Given the description of an element on the screen output the (x, y) to click on. 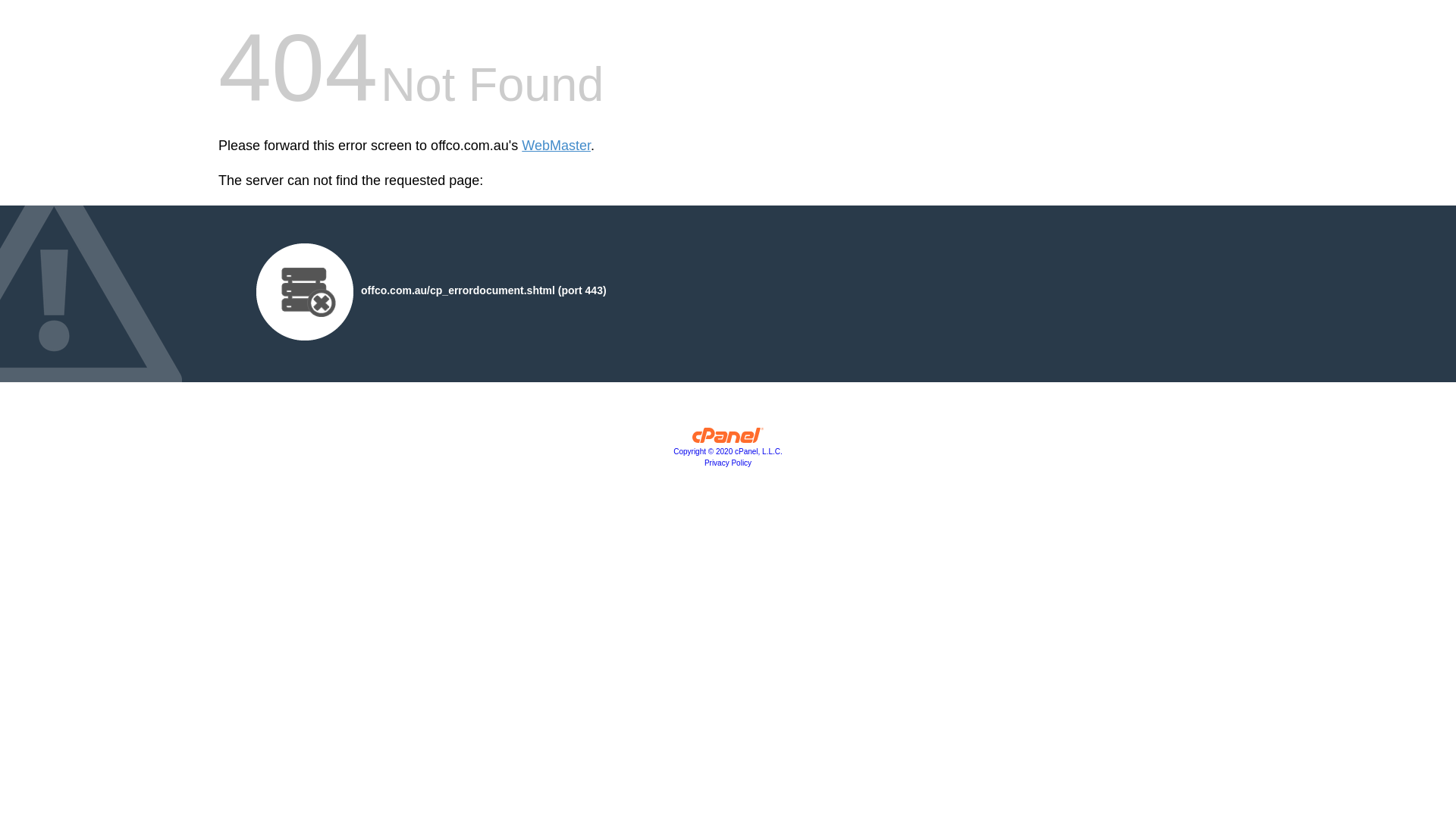
Privacy Policy Element type: text (727, 462)
WebMaster Element type: text (555, 145)
cPanel, Inc. Element type: hover (728, 439)
